Given the description of an element on the screen output the (x, y) to click on. 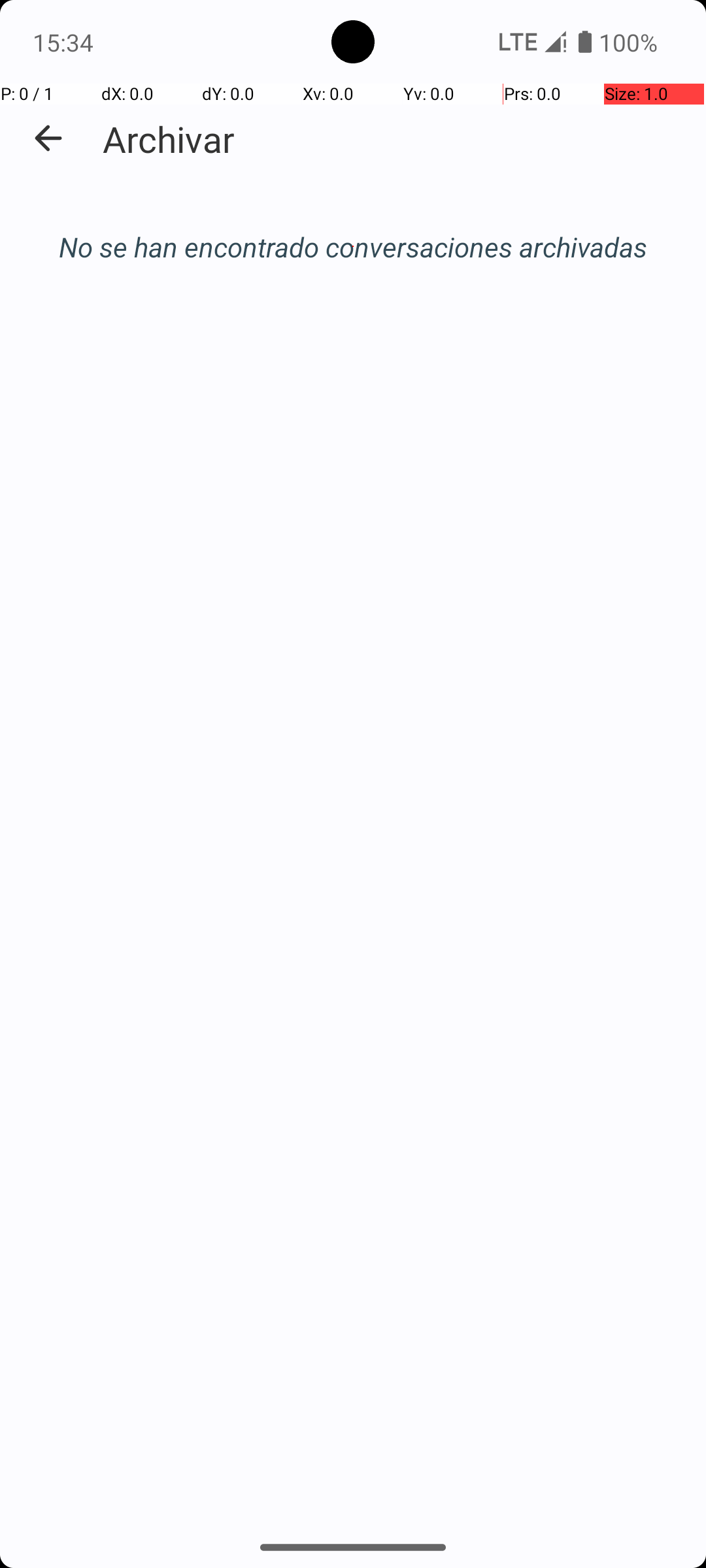
Archivar Element type: android.widget.TextView (168, 138)
No se han encontrado conversaciones archivadas Element type: android.widget.TextView (353, 246)
